Given the description of an element on the screen output the (x, y) to click on. 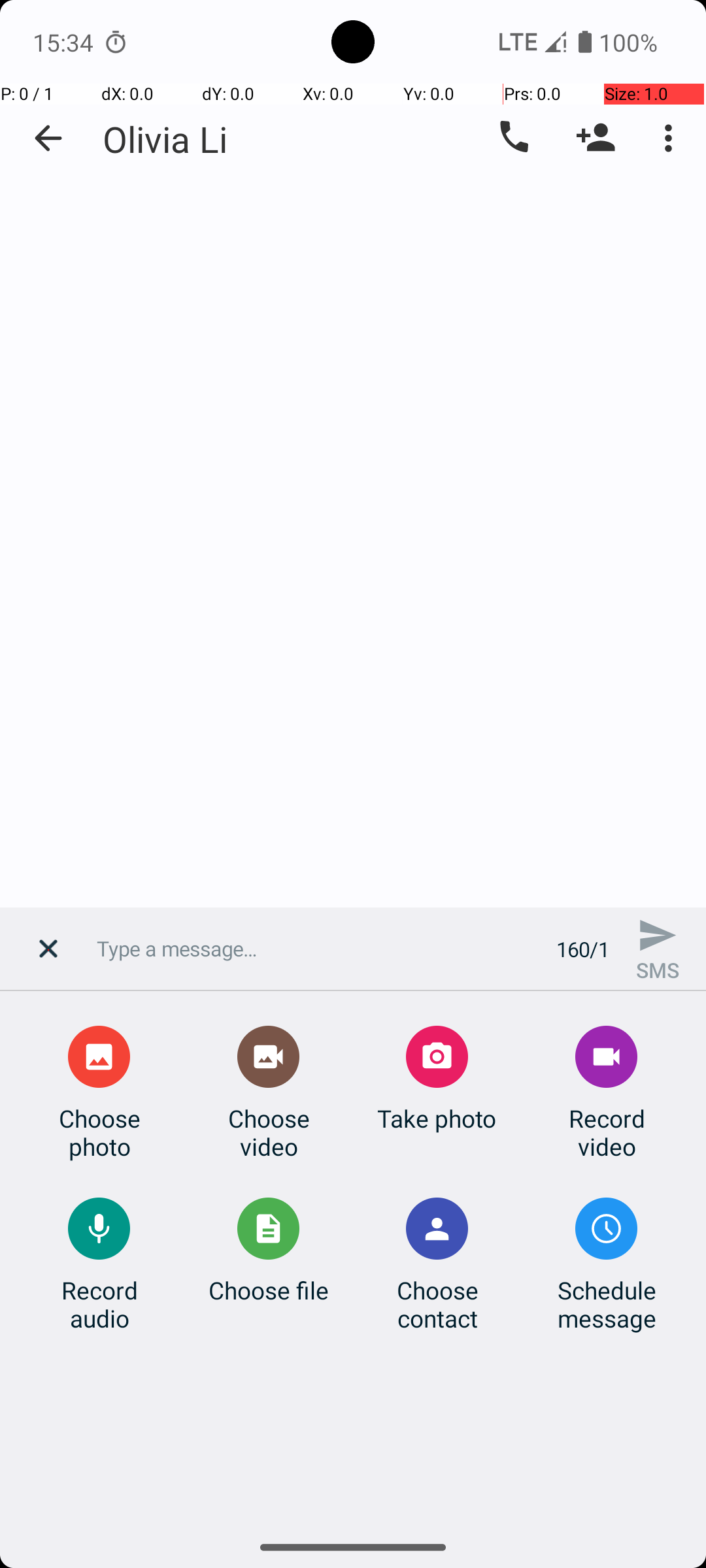
Olivia Li Element type: android.widget.TextView (164, 138)
